Given the description of an element on the screen output the (x, y) to click on. 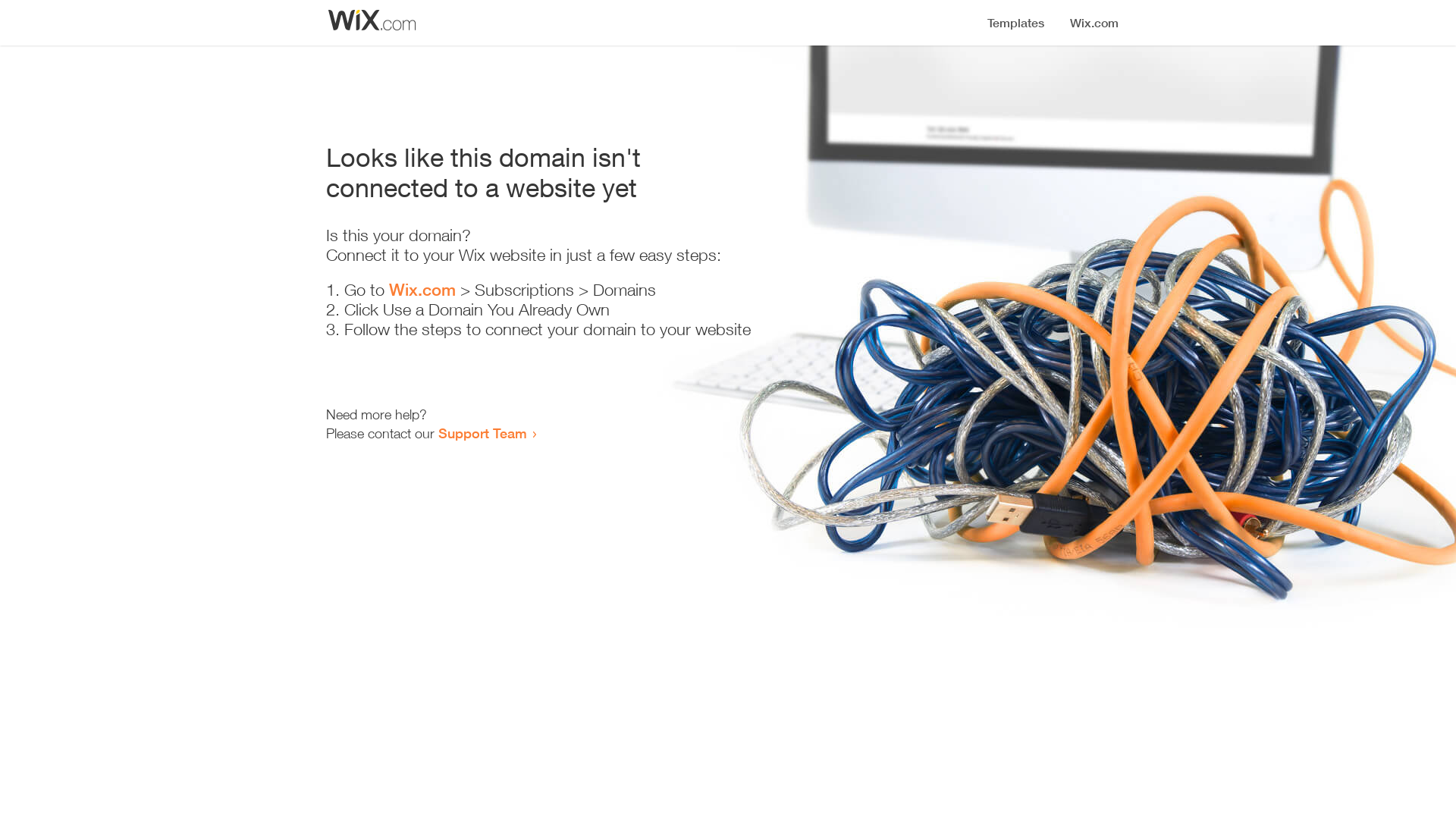
Support Team Element type: text (482, 432)
Wix.com Element type: text (422, 289)
